Given the description of an element on the screen output the (x, y) to click on. 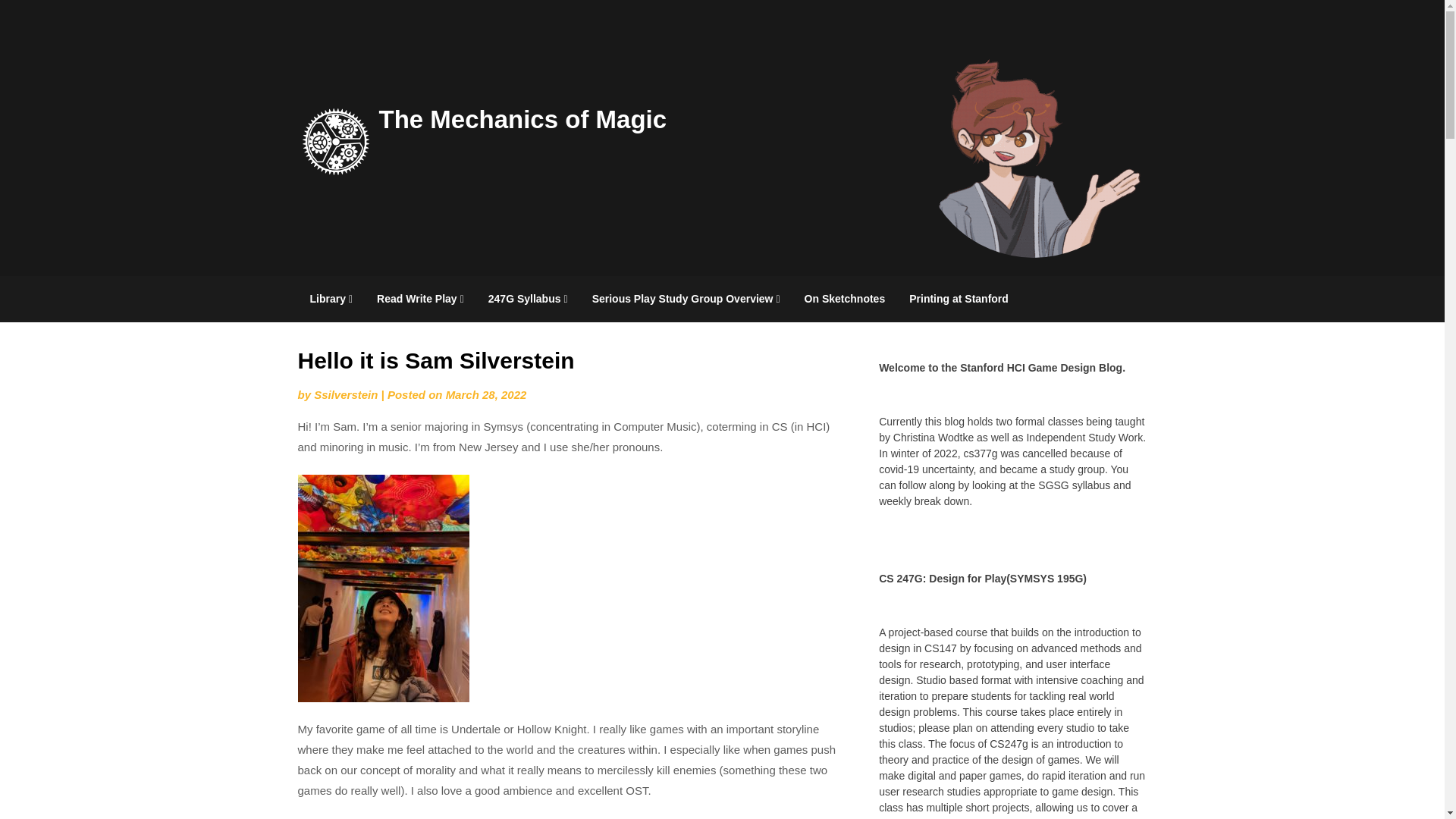
247G Syllabus (527, 299)
Read Write Play (420, 299)
Serious Play Study Group Overview (685, 299)
Library (331, 299)
The Mechanics of Magic (522, 118)
